Given the description of an element on the screen output the (x, y) to click on. 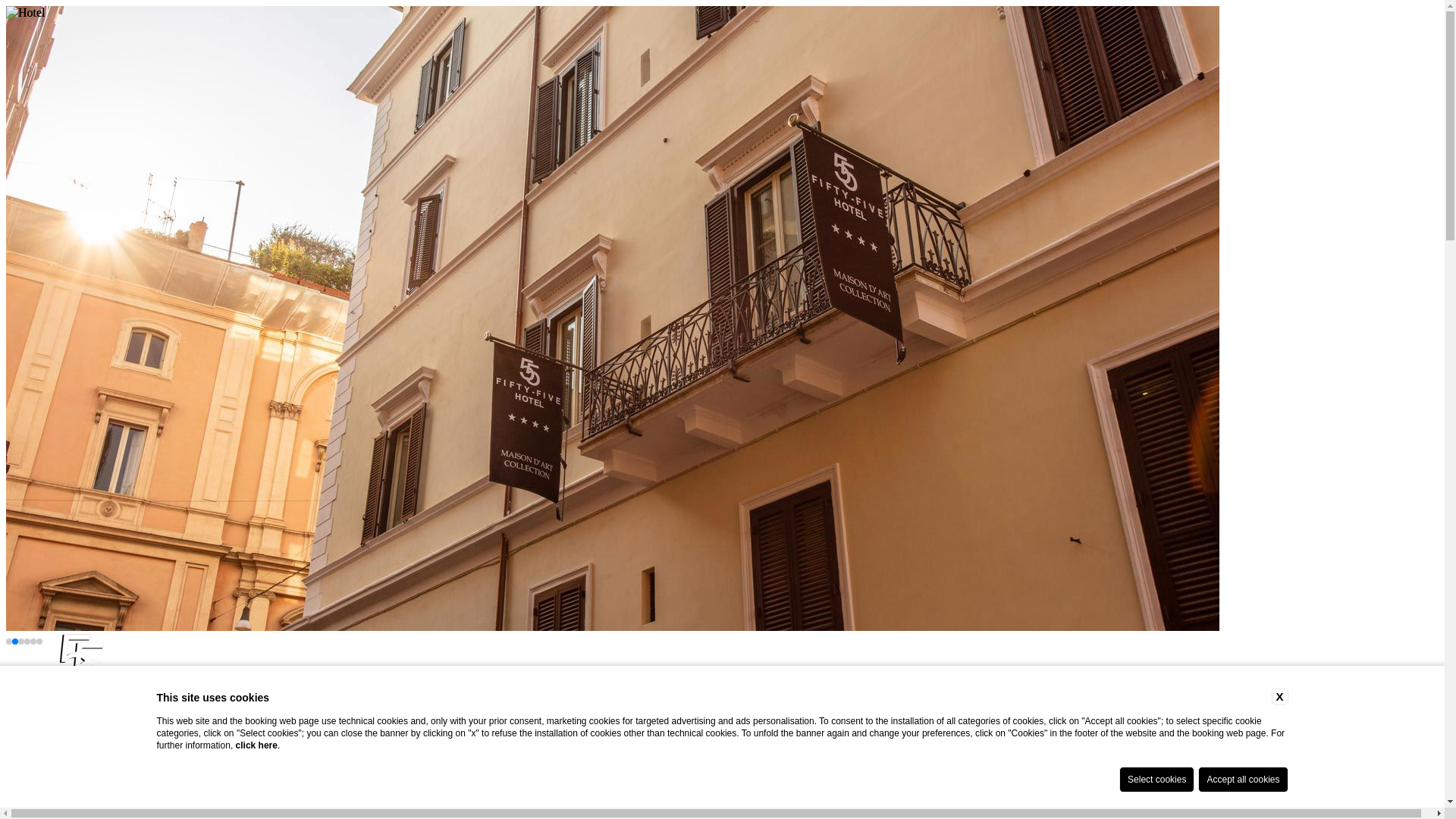
Accept all cookies (1242, 779)
Hotel (50, 776)
Hotel (25, 12)
Select cookies (1156, 779)
Hotel (81, 694)
